Given the description of an element on the screen output the (x, y) to click on. 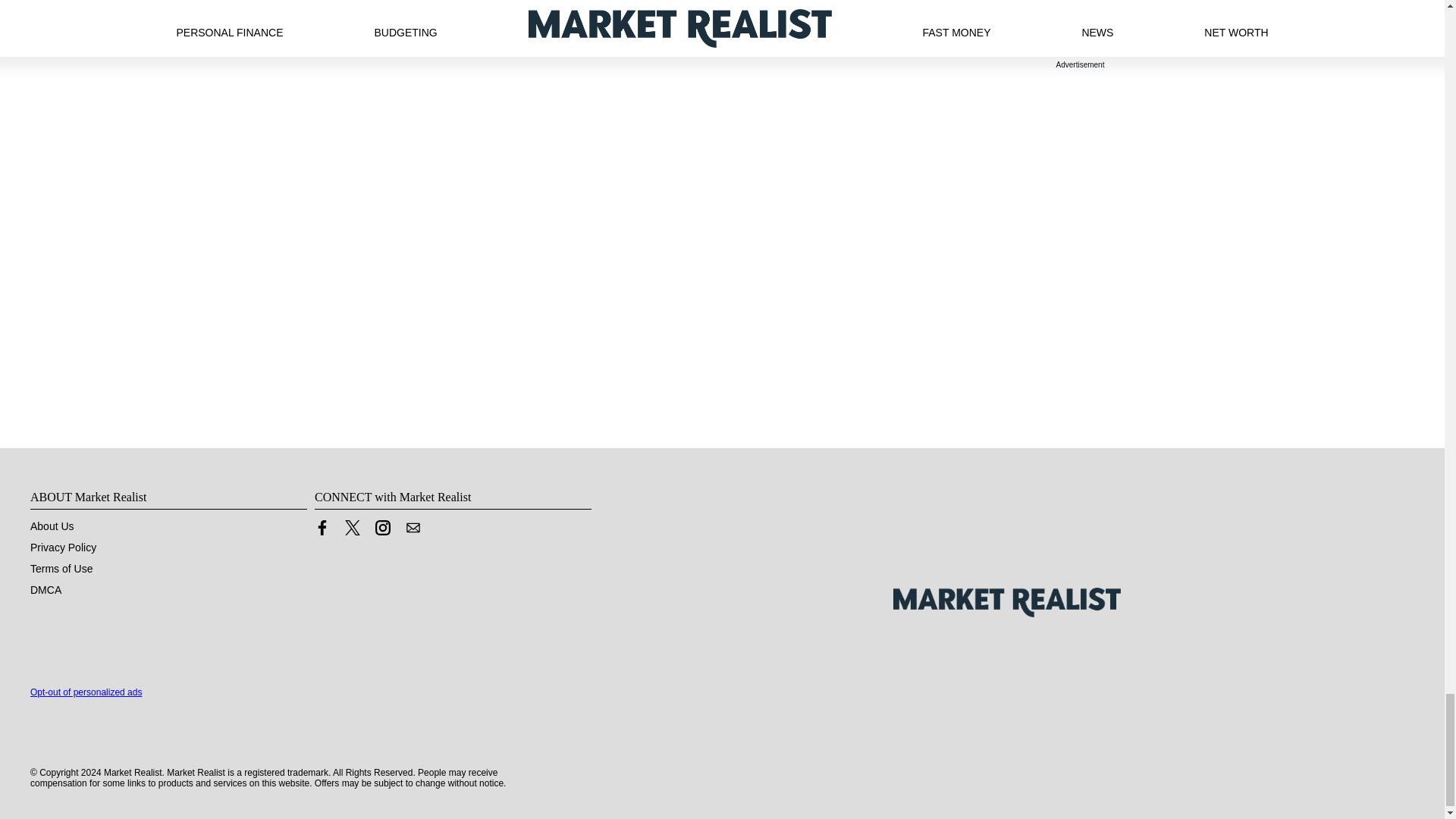
About Us (52, 526)
Opt-out of personalized ads (85, 692)
Link to X (352, 527)
Link to Instagram (382, 531)
Link to Facebook (322, 531)
DMCA (45, 589)
Link to Instagram (382, 527)
Terms of Use (61, 568)
DMCA (45, 589)
Privacy Policy (63, 547)
Terms of Use (61, 568)
About Us (52, 526)
Link to Facebook (322, 527)
Privacy Policy (63, 547)
Contact us by Email (413, 527)
